Given the description of an element on the screen output the (x, y) to click on. 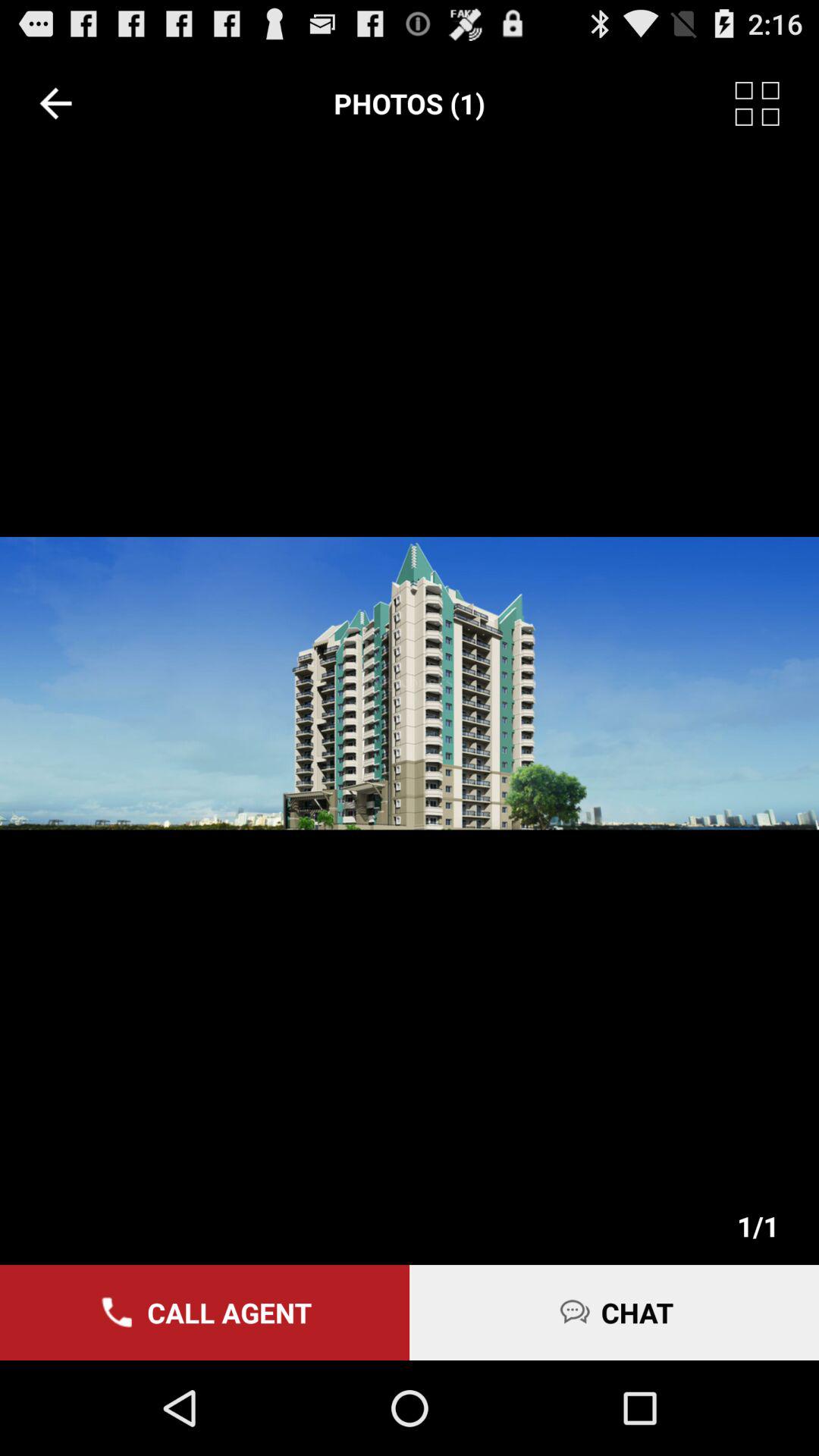
flip until photos (1) (409, 103)
